Given the description of an element on the screen output the (x, y) to click on. 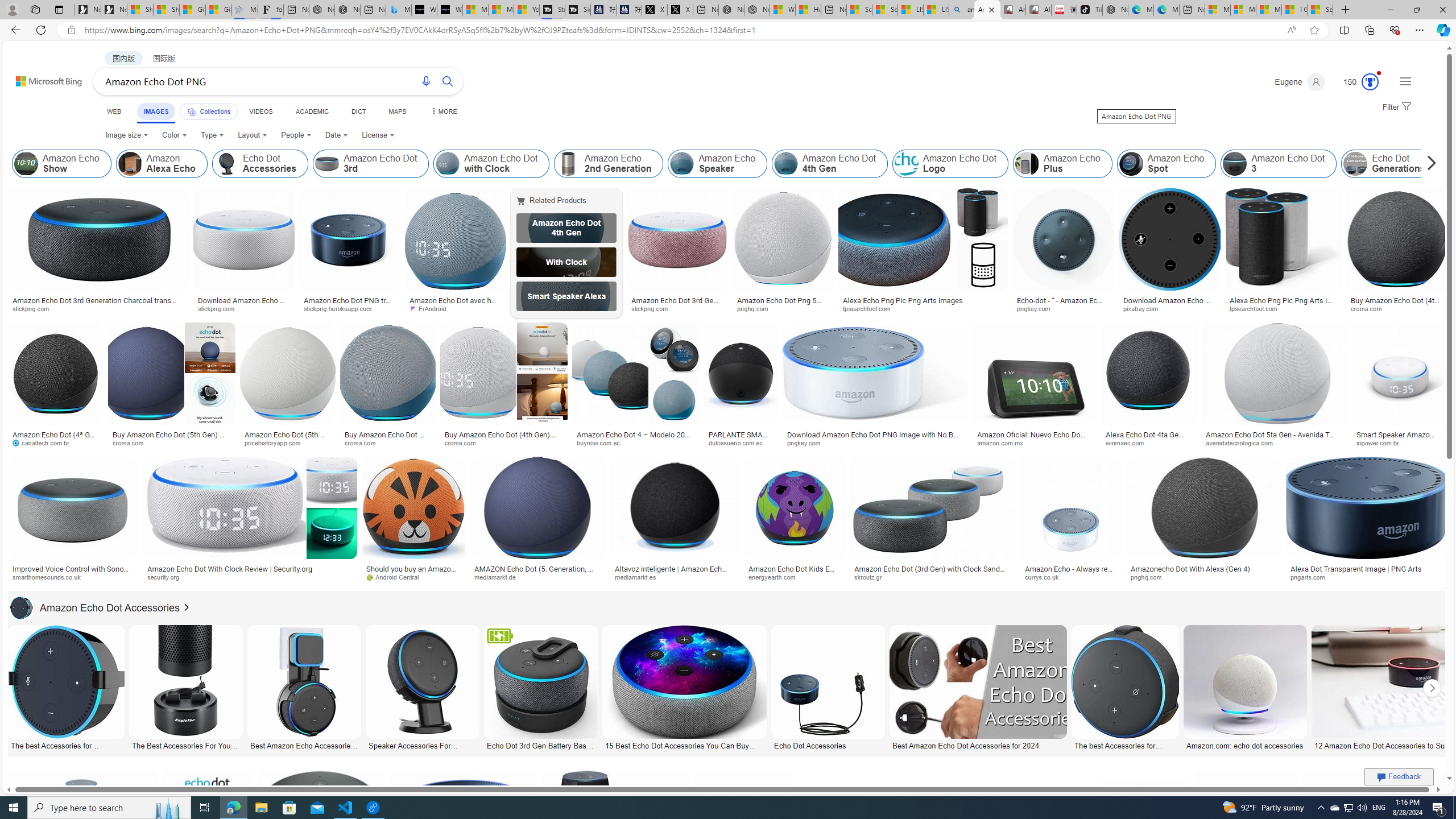
DICT (357, 111)
tpsearchtool.com (1257, 308)
avenidatecnologica.com (1273, 442)
winmaec.com (1148, 442)
Alexa Dot Transparent Image | PNG Arts (1356, 568)
